Given the description of an element on the screen output the (x, y) to click on. 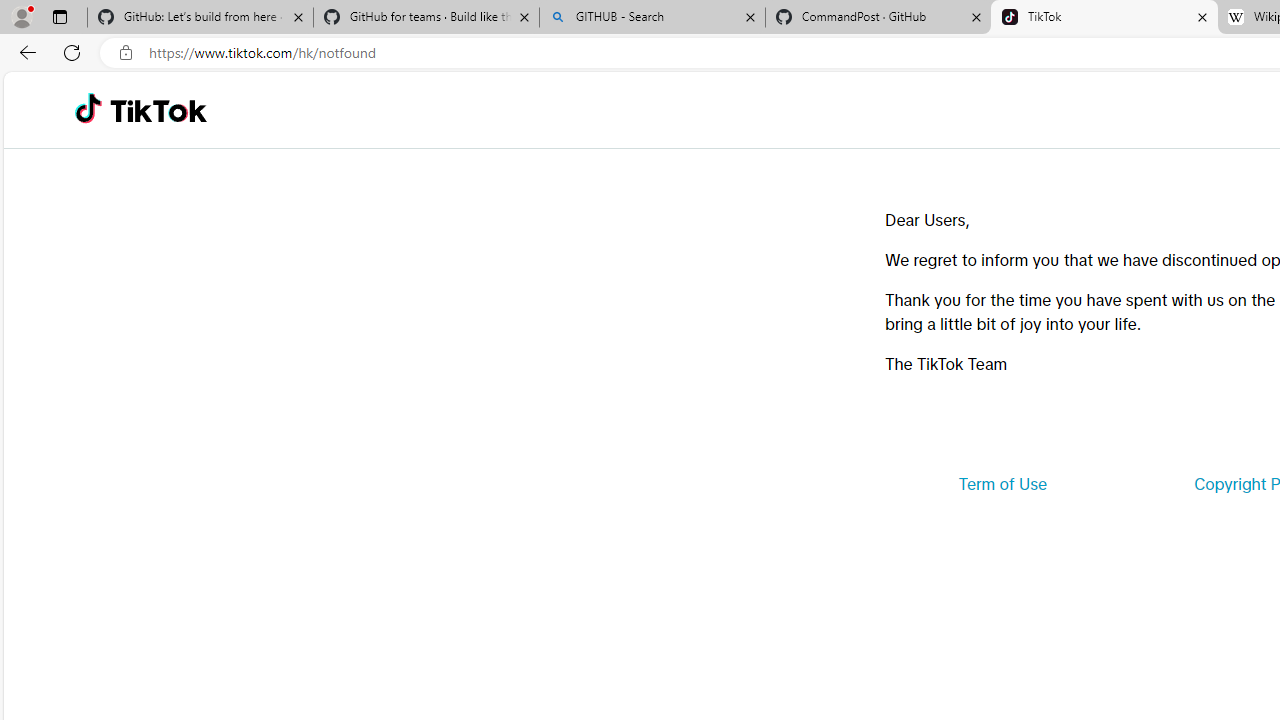
TikTok (1104, 17)
TikTok (158, 110)
GITHUB - Search (652, 17)
Term of Use (1002, 484)
